Given the description of an element on the screen output the (x, y) to click on. 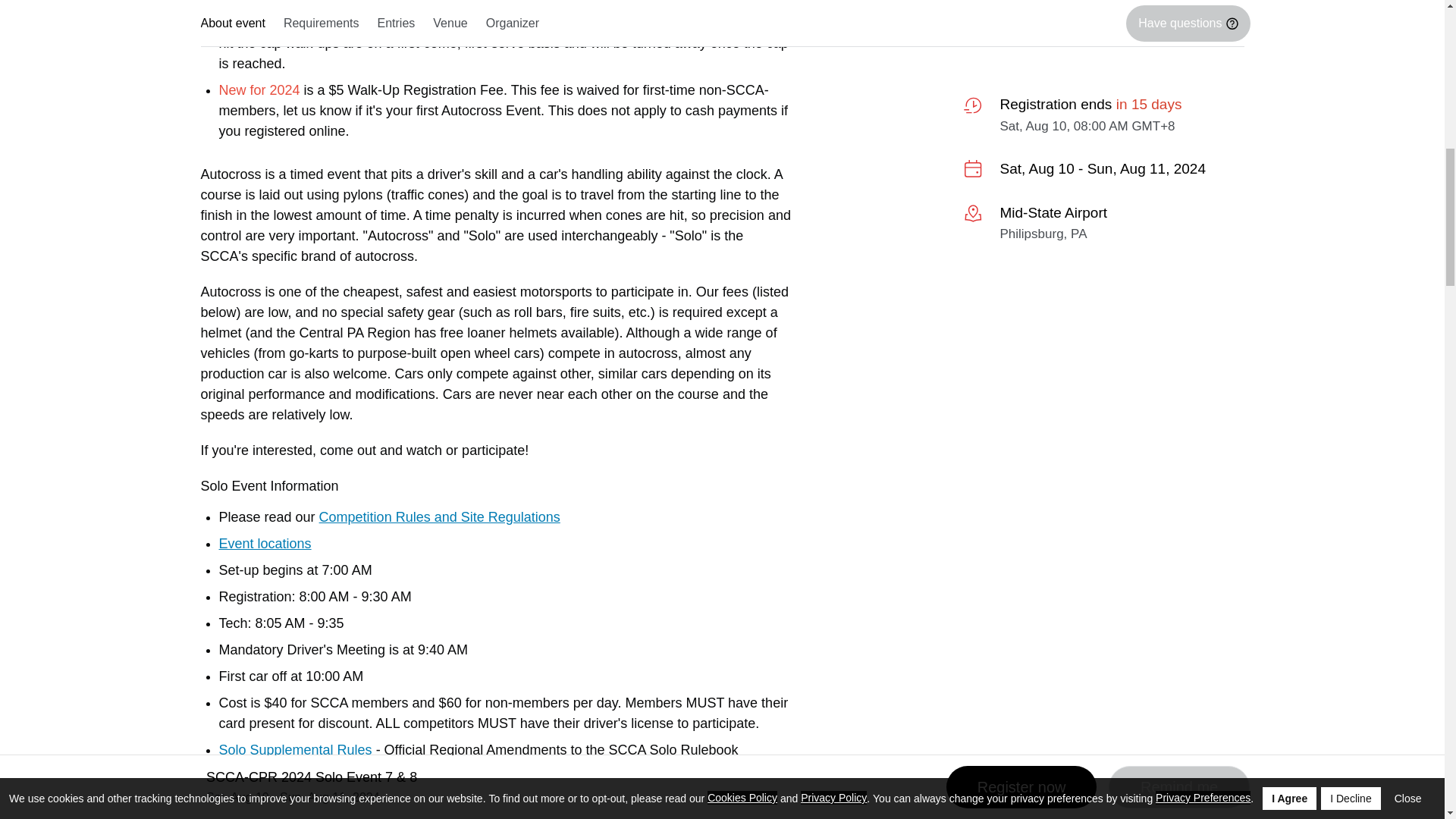
Event locations (264, 543)
Competition Rules and Site Regulations (439, 516)
Solo Supplemental Rules (294, 749)
